Given the description of an element on the screen output the (x, y) to click on. 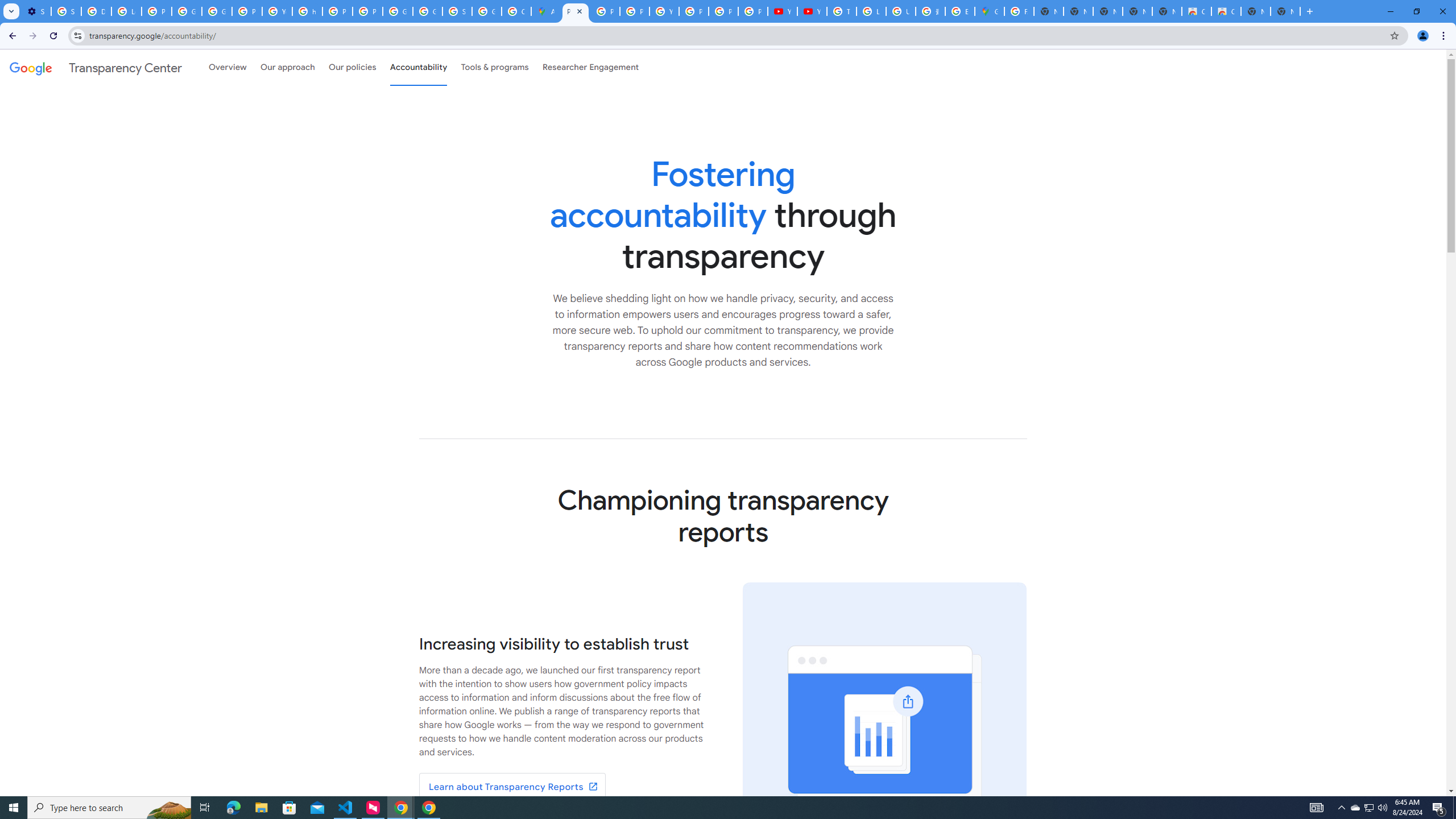
Explore new street-level details - Google Maps Help (959, 11)
YouTube (277, 11)
